Given the description of an element on the screen output the (x, y) to click on. 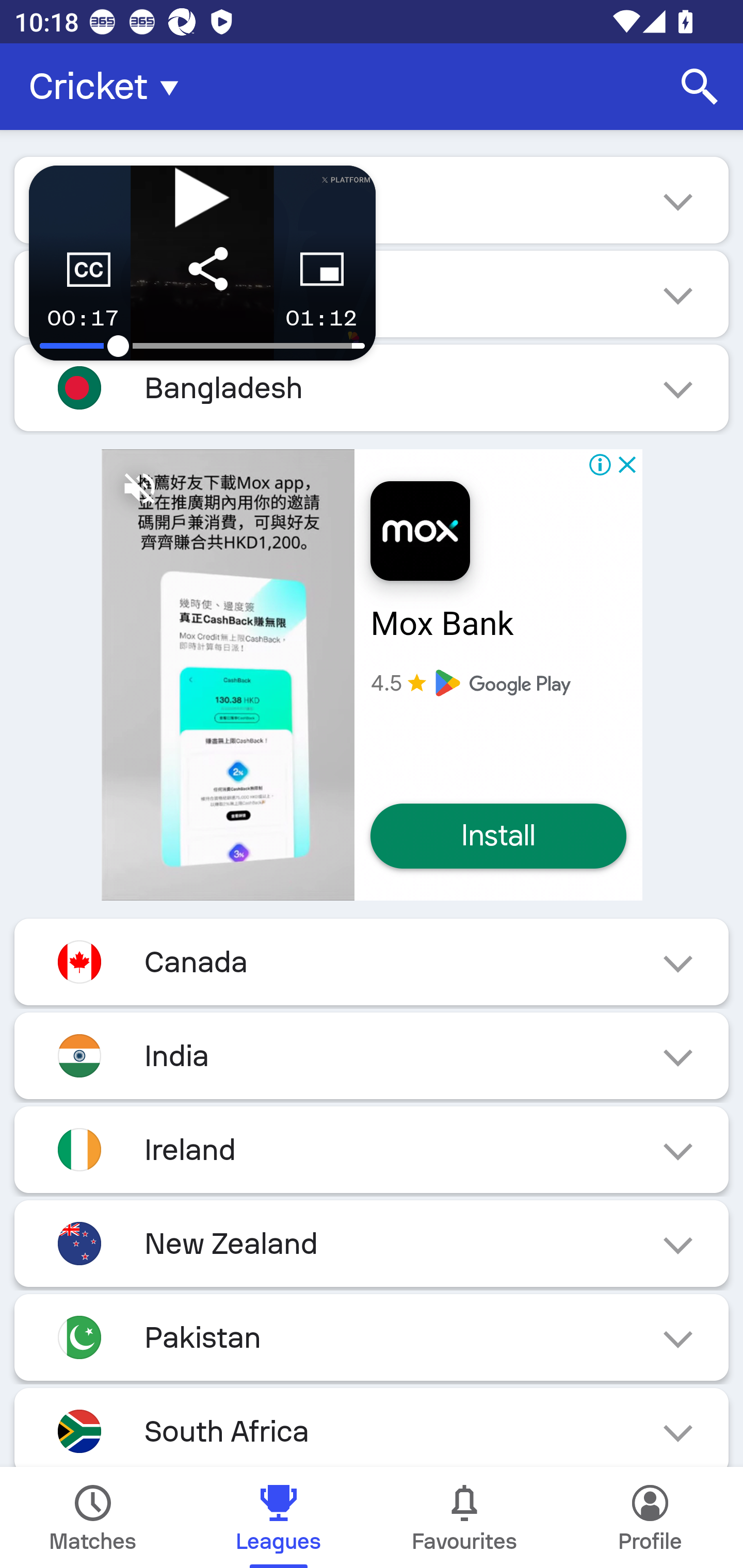
Cricket (109, 86)
Search (699, 86)
Bangladesh (371, 387)
Mox Bank 4.5 Install Install (371, 674)
Install (498, 836)
Canada (371, 961)
India (371, 1055)
Ireland (371, 1150)
New Zealand (371, 1243)
Pakistan (371, 1337)
South Africa (371, 1427)
Matches (92, 1517)
Favourites (464, 1517)
Profile (650, 1517)
